Given the description of an element on the screen output the (x, y) to click on. 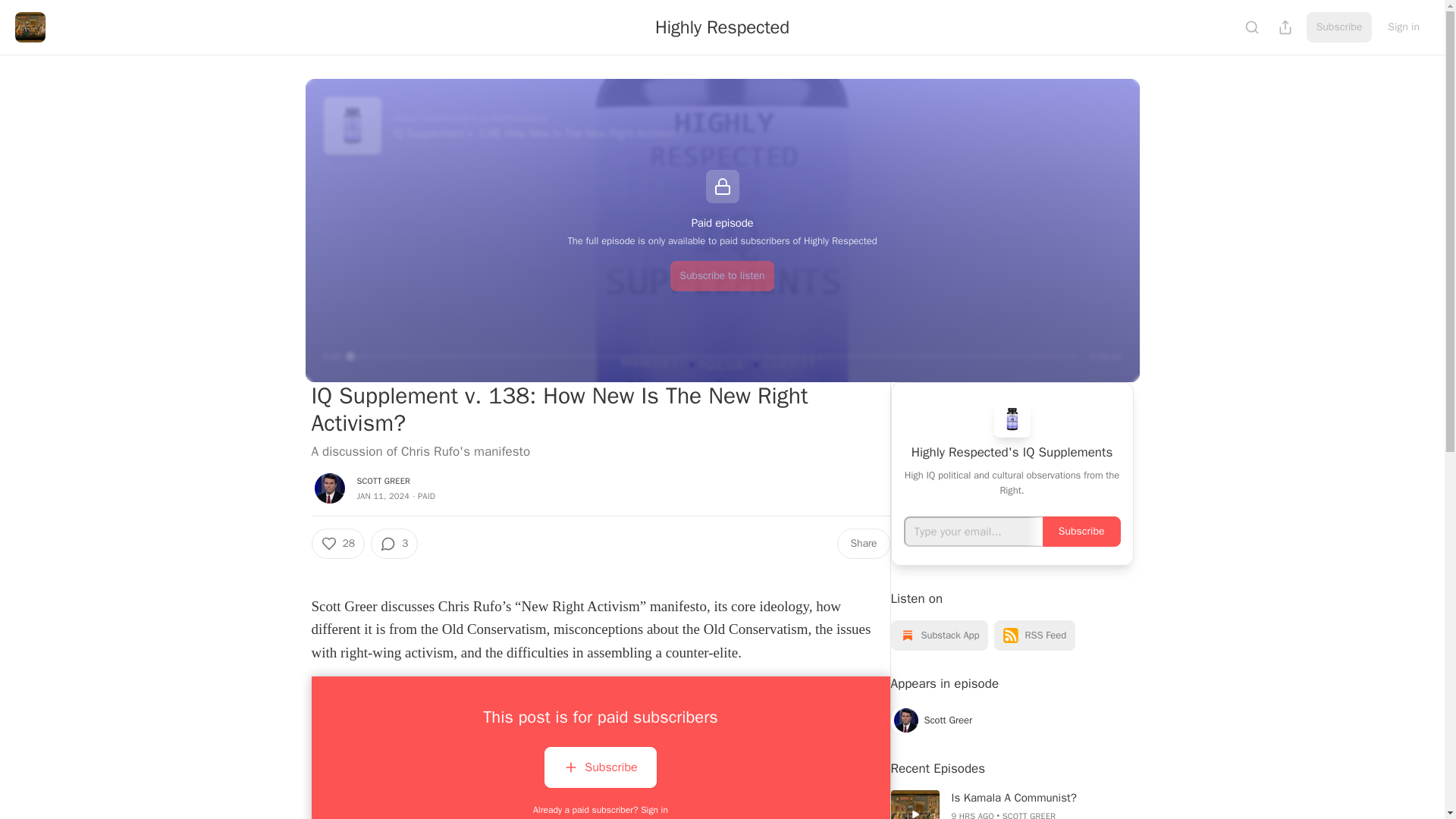
Subscribe (1339, 27)
SCOTT GREER (383, 480)
Already a paid subscriber? Sign in (600, 809)
Subscribe (600, 766)
3 (394, 543)
Subscribe to listen (721, 276)
Highly Respected (722, 26)
Subscribe (600, 770)
Subscribe (1081, 531)
Sign in (1403, 27)
